Given the description of an element on the screen output the (x, y) to click on. 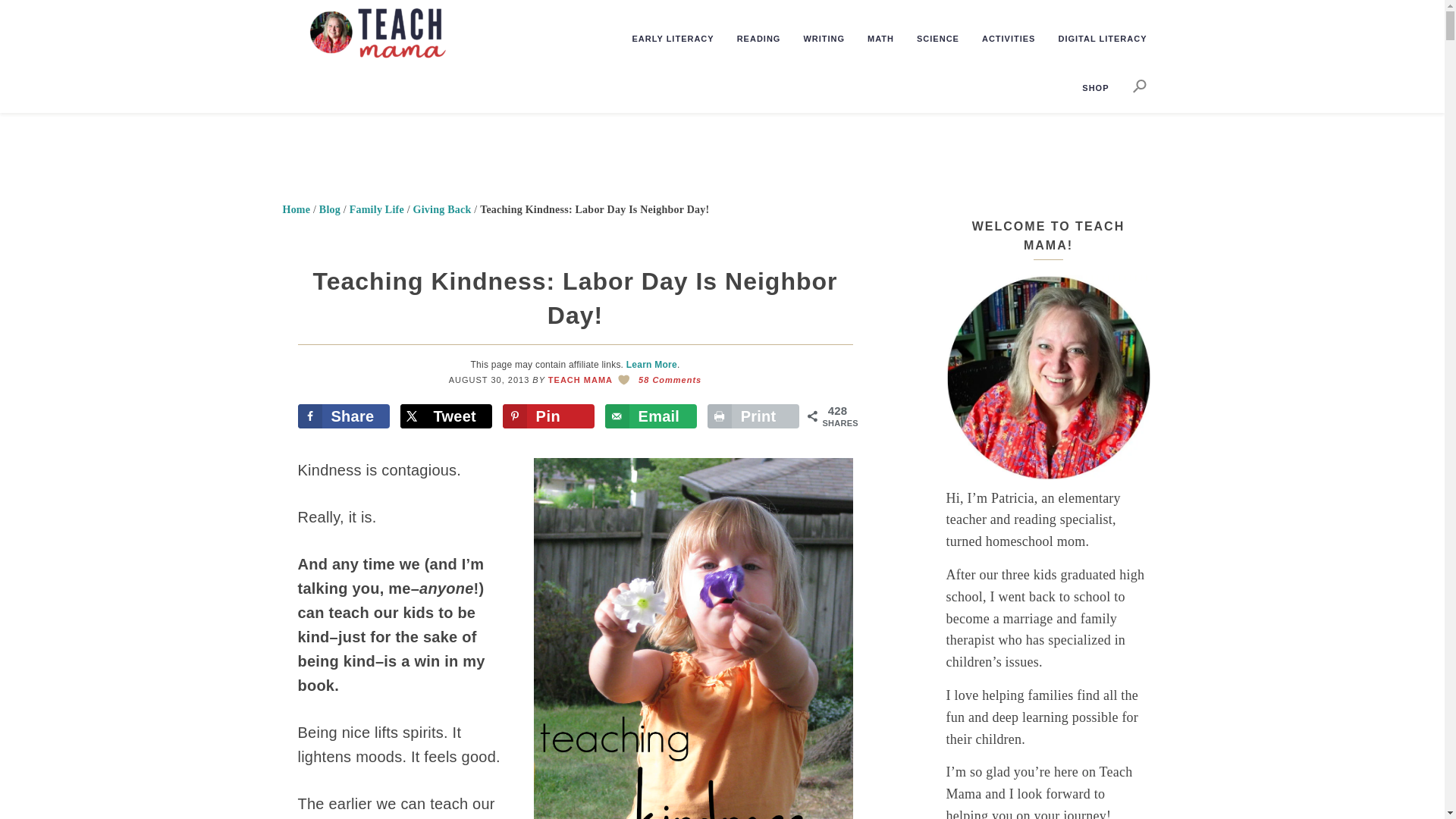
Share on Facebook (343, 416)
WRITING (814, 38)
MATH (870, 38)
EARLY LITERACY (663, 38)
TEACH MAMA (405, 34)
Share on X (446, 416)
Save to Pinterest (548, 416)
Send over email (651, 416)
Welcome to Teach Mama! (1048, 377)
READING (748, 38)
